Given the description of an element on the screen output the (x, y) to click on. 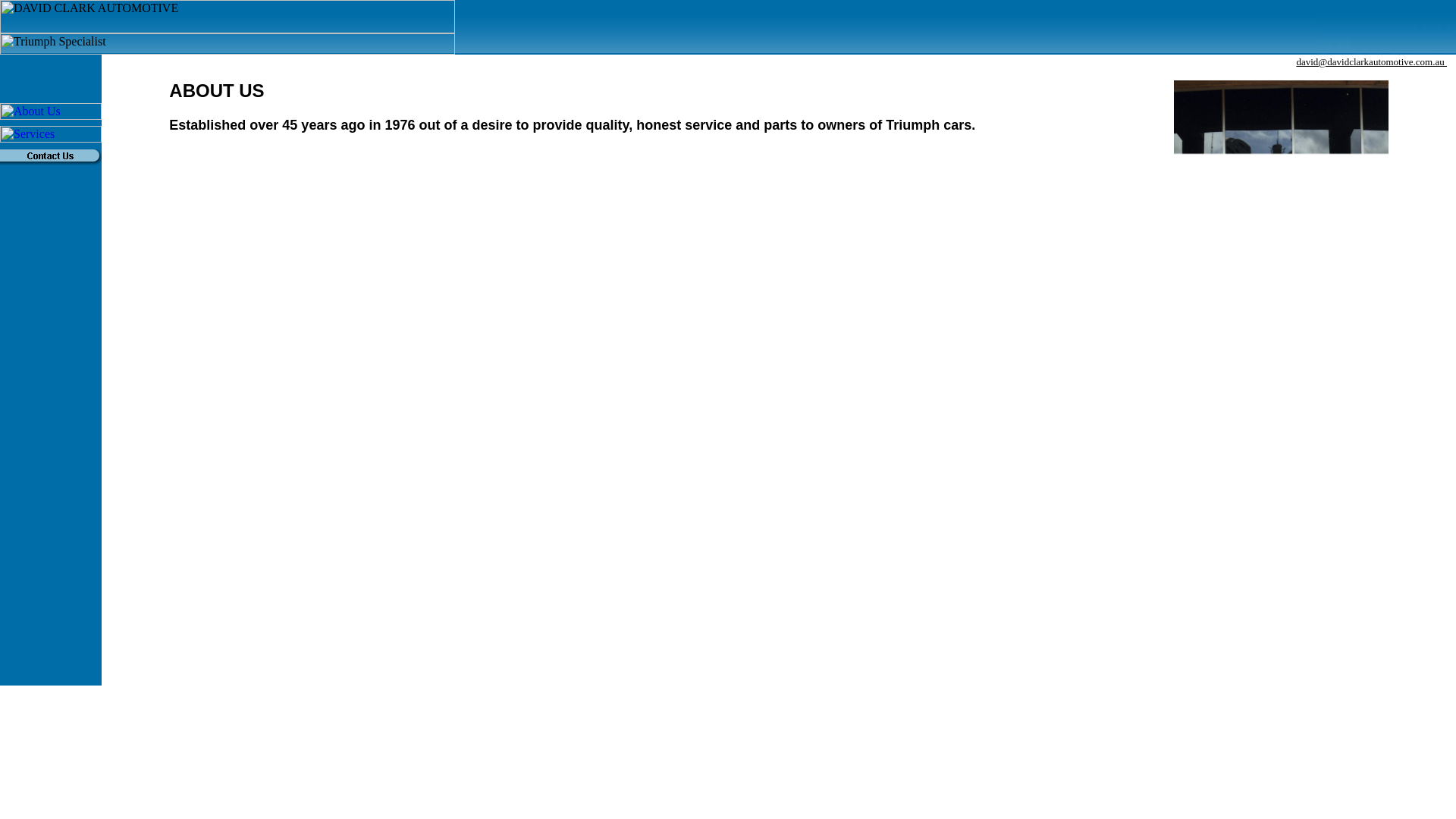
Triumph Specialist Element type: hover (227, 43)
About Us Element type: hover (50, 111)
Services Element type: hover (50, 133)
Contact Us Element type: hover (50, 156)
david@davidclarkautomotive.com.au Element type: text (1370, 61)
DAVID CLARK AUTOMOTIVE Element type: hover (227, 16)
